Given the description of an element on the screen output the (x, y) to click on. 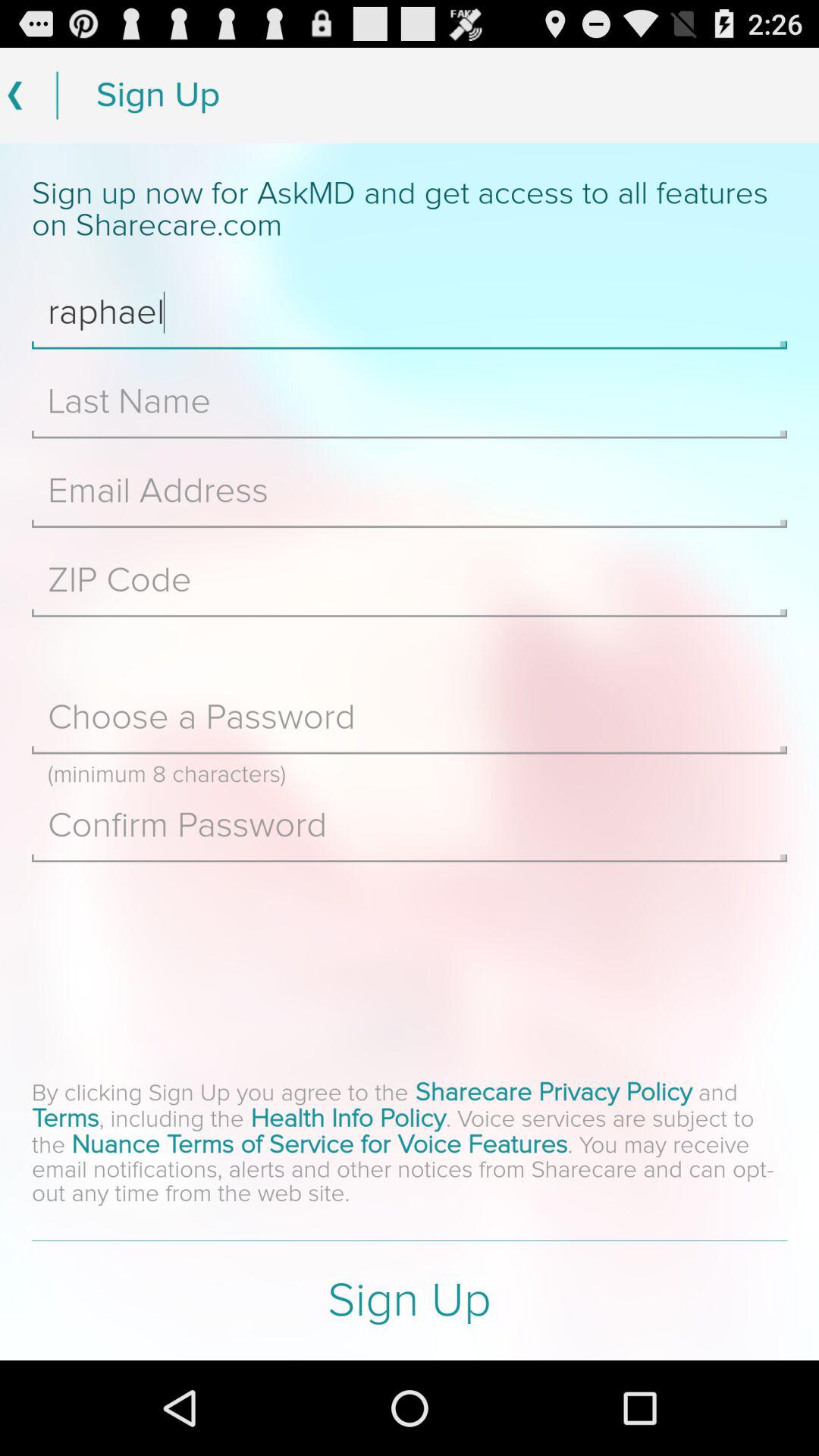
enter a password (409, 717)
